Given the description of an element on the screen output the (x, y) to click on. 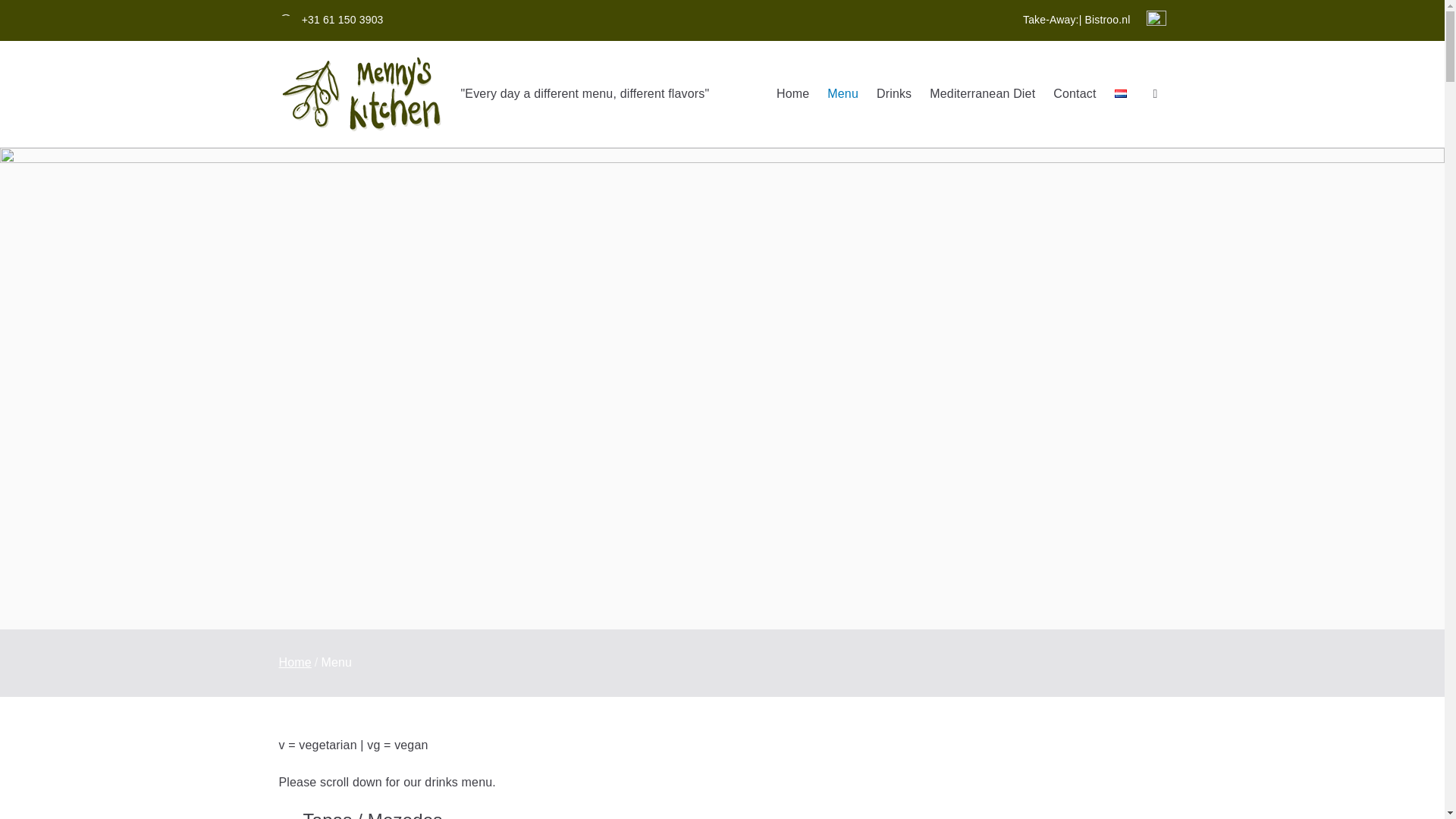
Menu (843, 94)
Home (792, 94)
Home (295, 662)
Drinks (893, 94)
Contact (1074, 94)
Mediterranean Diet (982, 94)
Bistroo.nl (1107, 19)
